Given the description of an element on the screen output the (x, y) to click on. 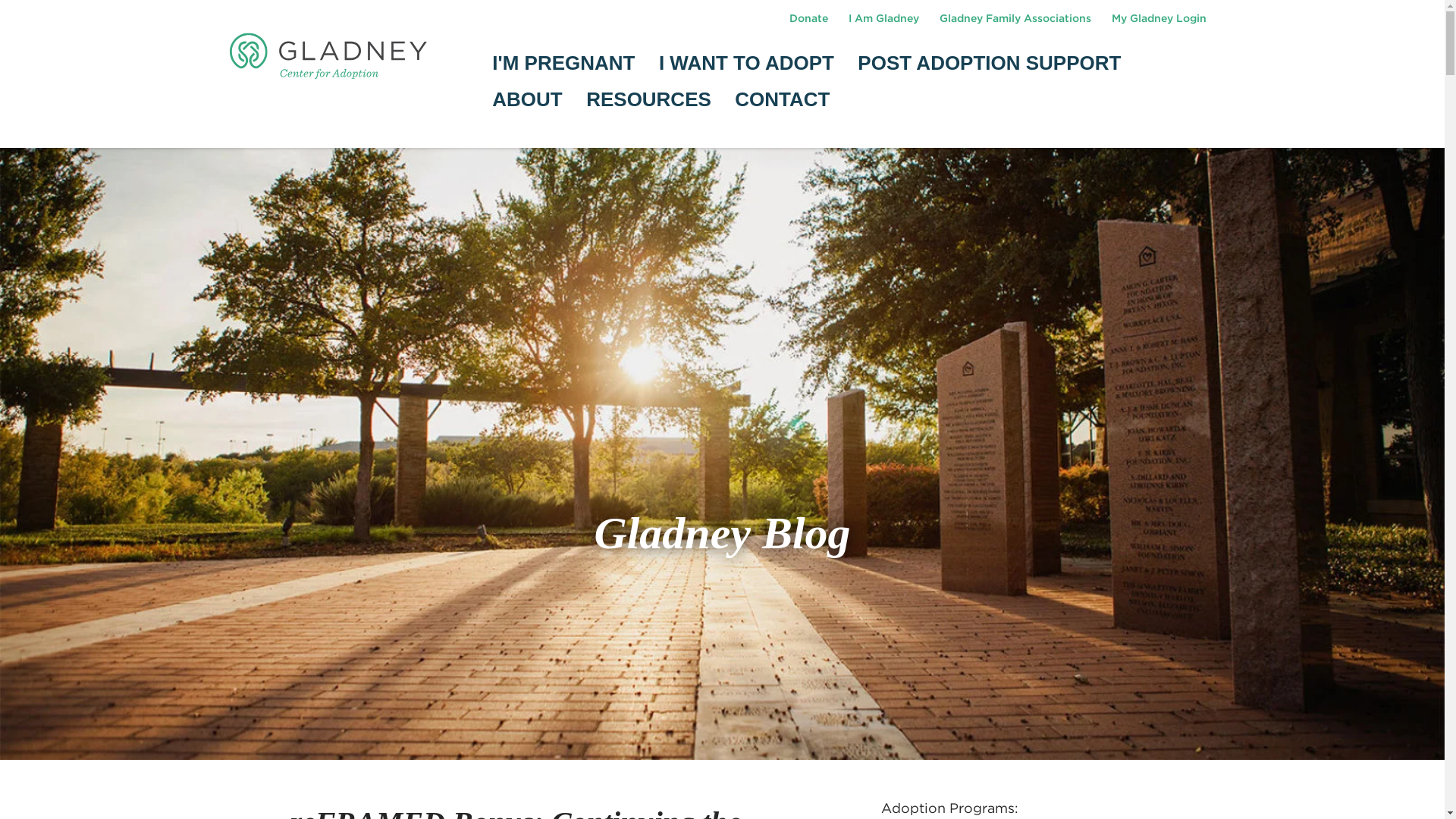
POST ADOPTION SUPPORT (989, 63)
RESOURCES (649, 99)
Gladney Center for Adoption (327, 55)
I'M PREGNANT (563, 63)
Donate (808, 17)
I WANT TO ADOPT (745, 63)
Gladney Family Associations (1016, 17)
CONTACT (782, 99)
ABOUT (526, 99)
My Gladney Login (1157, 17)
I Am Gladney (884, 17)
